Given the description of an element on the screen output the (x, y) to click on. 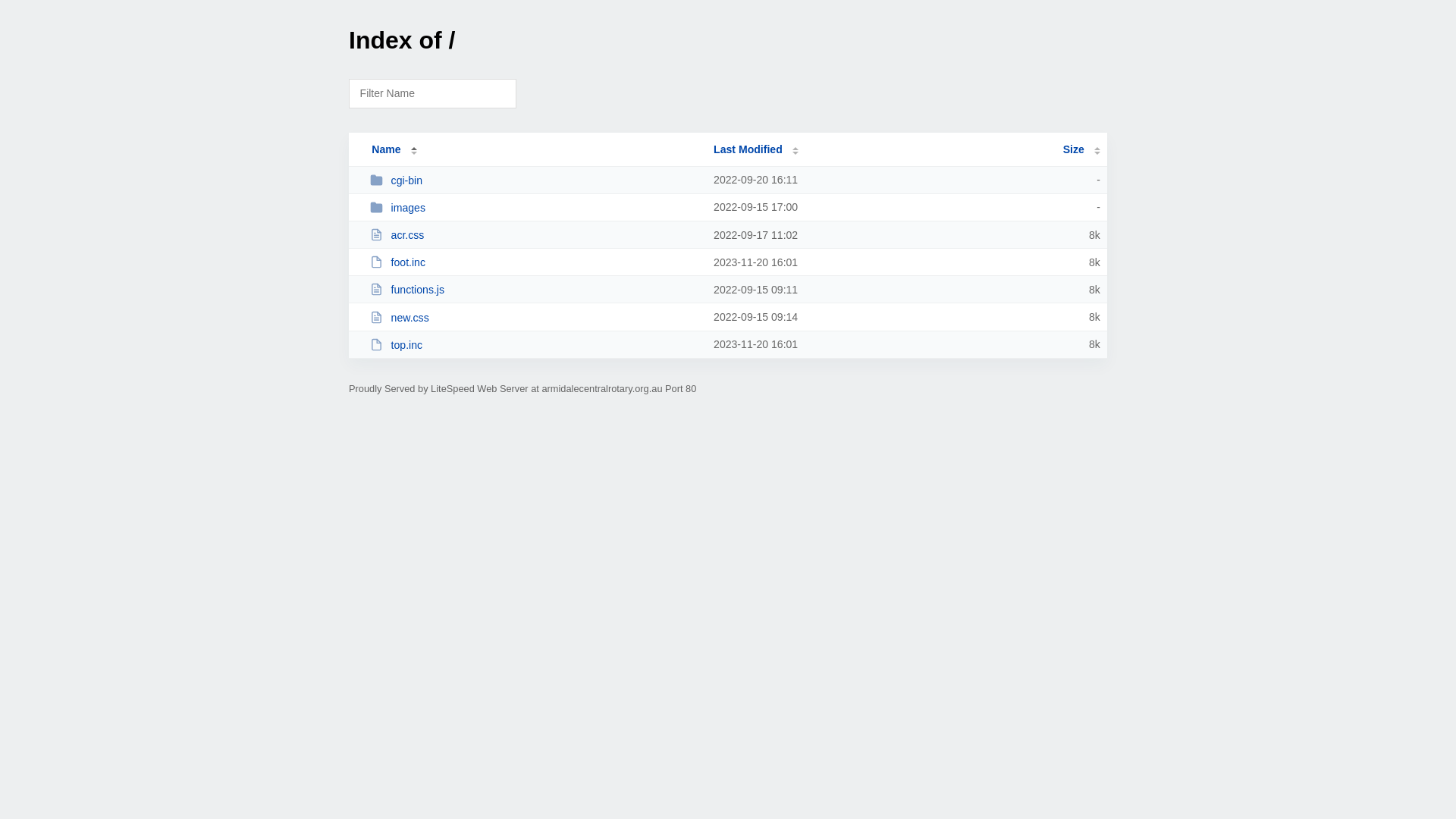
new.css Element type: text (534, 316)
Size Element type: text (1081, 149)
top.inc Element type: text (534, 344)
acr.css Element type: text (534, 234)
functions.js Element type: text (534, 288)
Name Element type: text (385, 149)
foot.inc Element type: text (534, 261)
images Element type: text (534, 206)
Last Modified Element type: text (755, 149)
cgi-bin Element type: text (534, 179)
